Given the description of an element on the screen output the (x, y) to click on. 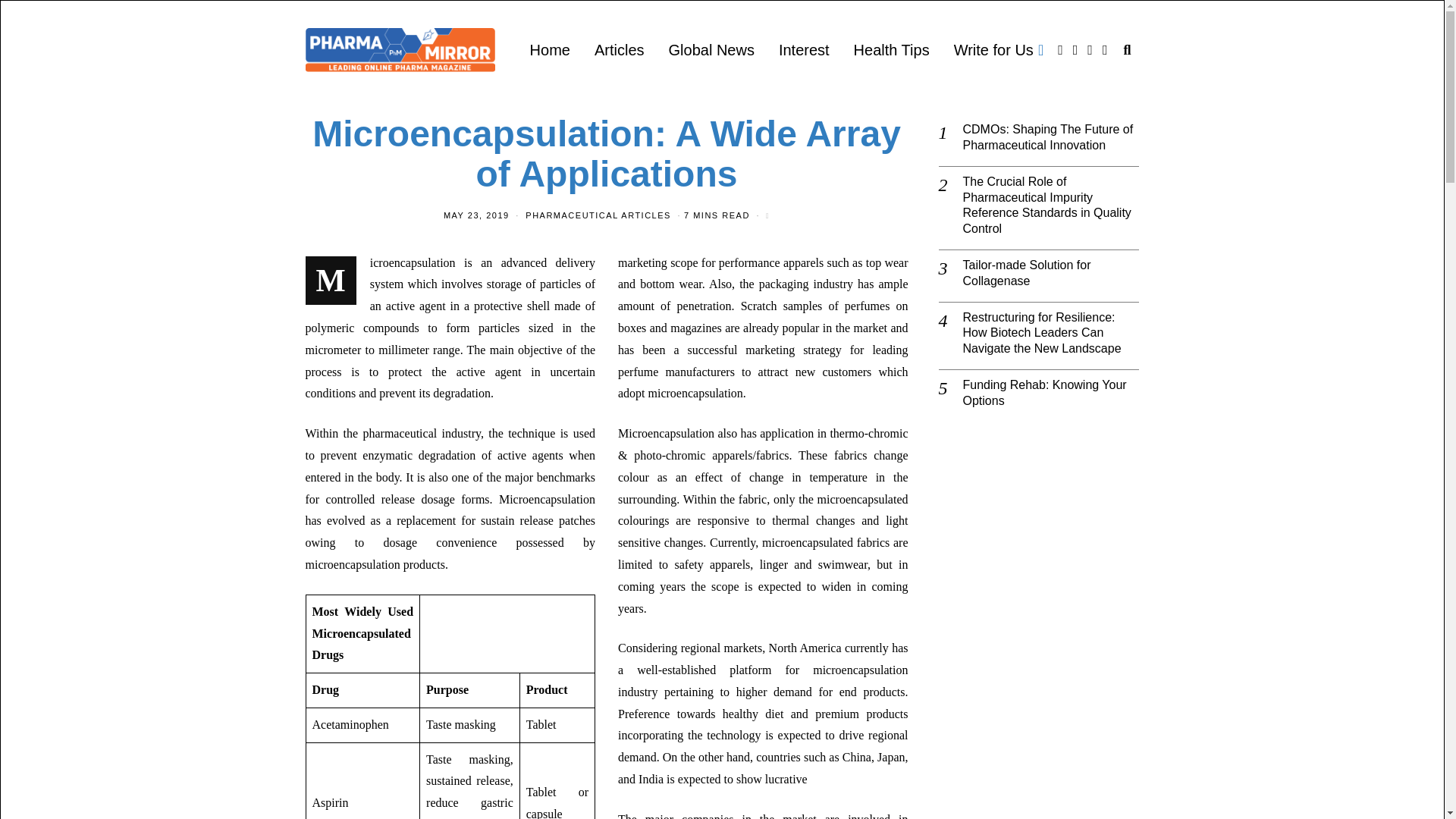
Health Tips (891, 50)
CDMOs: Shaping The Future of Pharmaceutical Innovation (1051, 137)
Articles (619, 50)
Write for Us (998, 50)
Home (549, 50)
PHARMACEUTICAL ARTICLES (598, 215)
Interest (804, 50)
Global News (711, 50)
Tailor-made Solution for Collagenase (1051, 273)
